Given the description of an element on the screen output the (x, y) to click on. 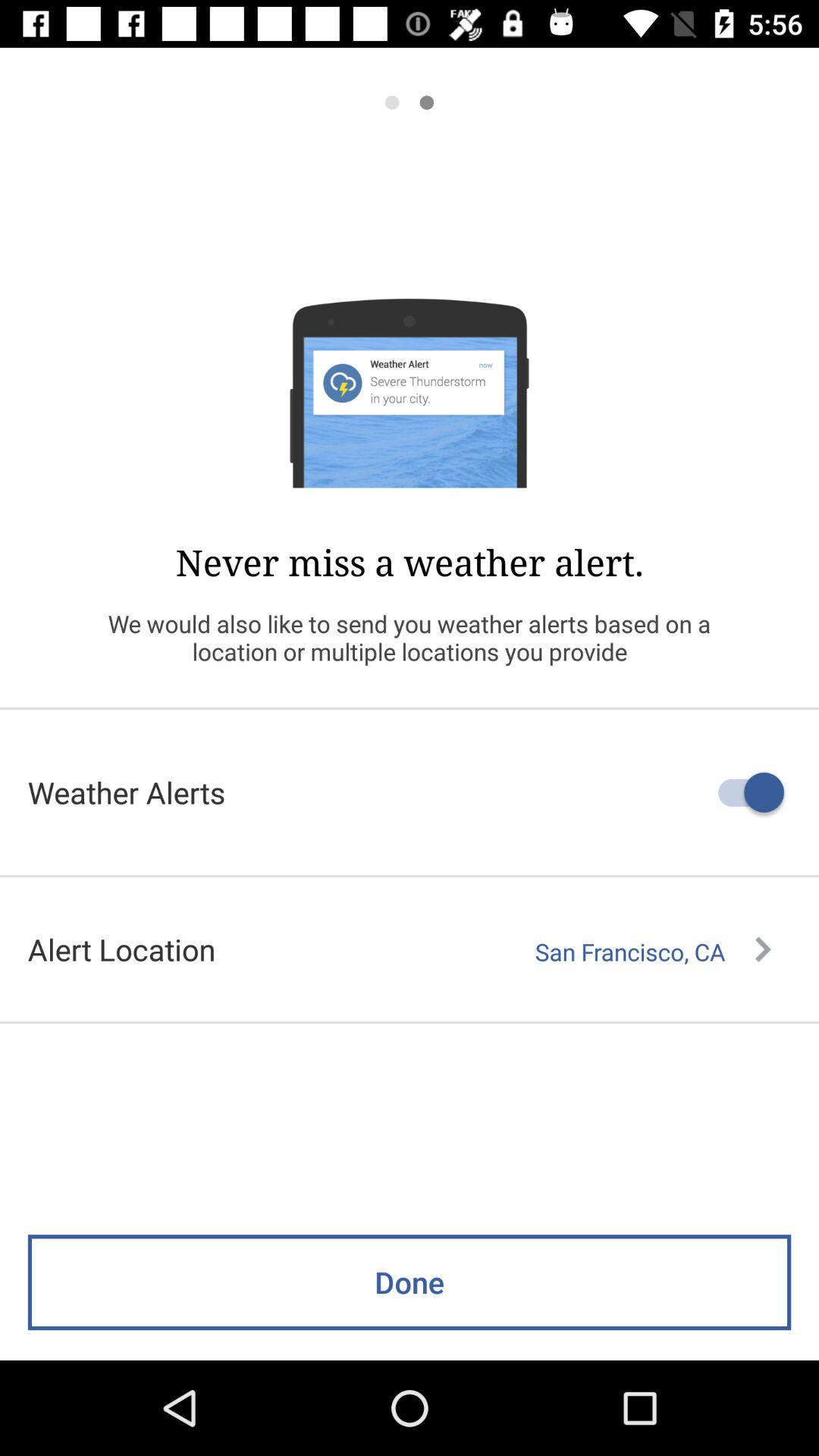
launch icon next to the alert location icon (653, 951)
